Given the description of an element on the screen output the (x, y) to click on. 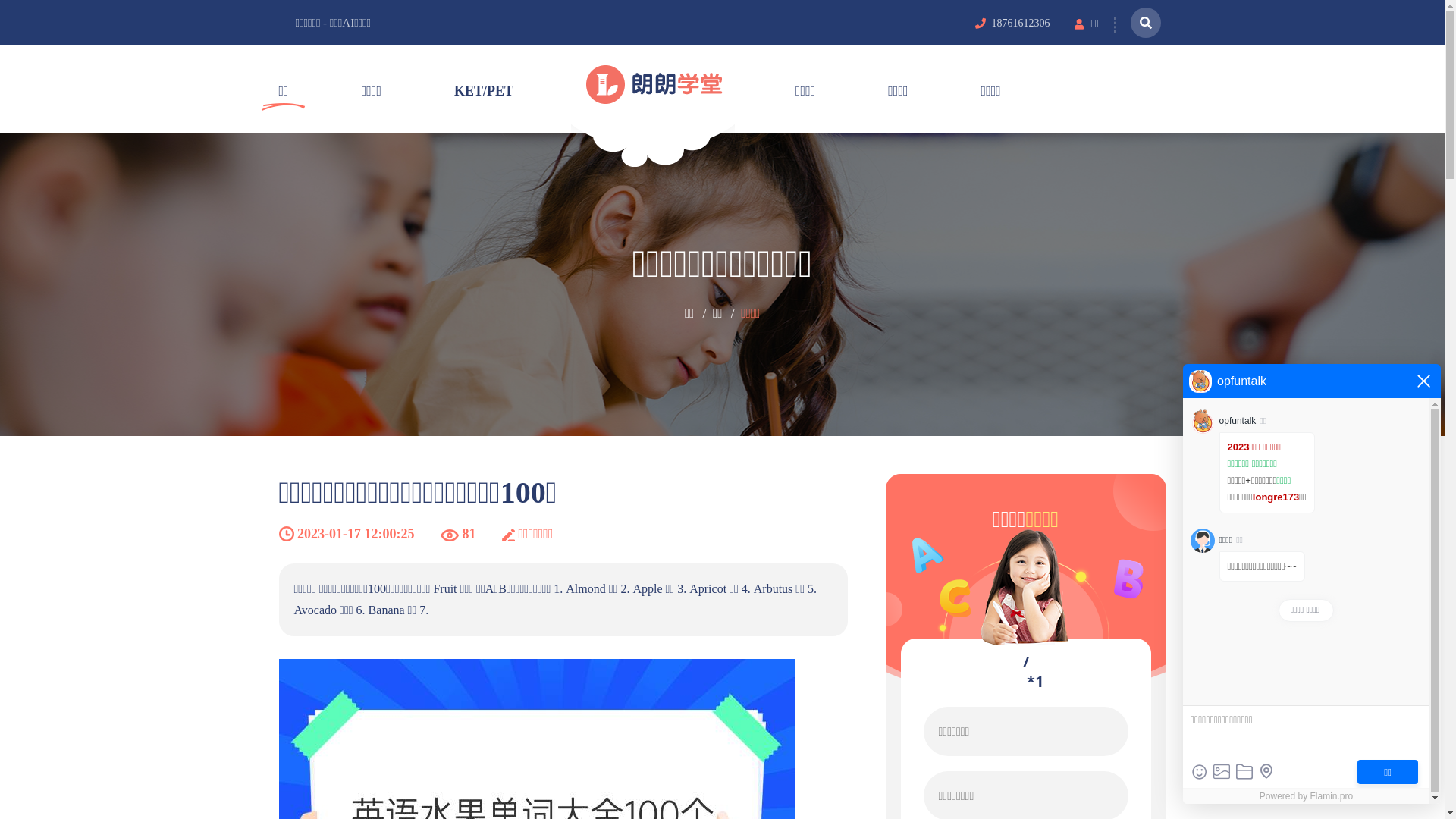
KET/PET Element type: text (483, 88)
18761612306 Element type: text (1020, 23)
